Given the description of an element on the screen output the (x, y) to click on. 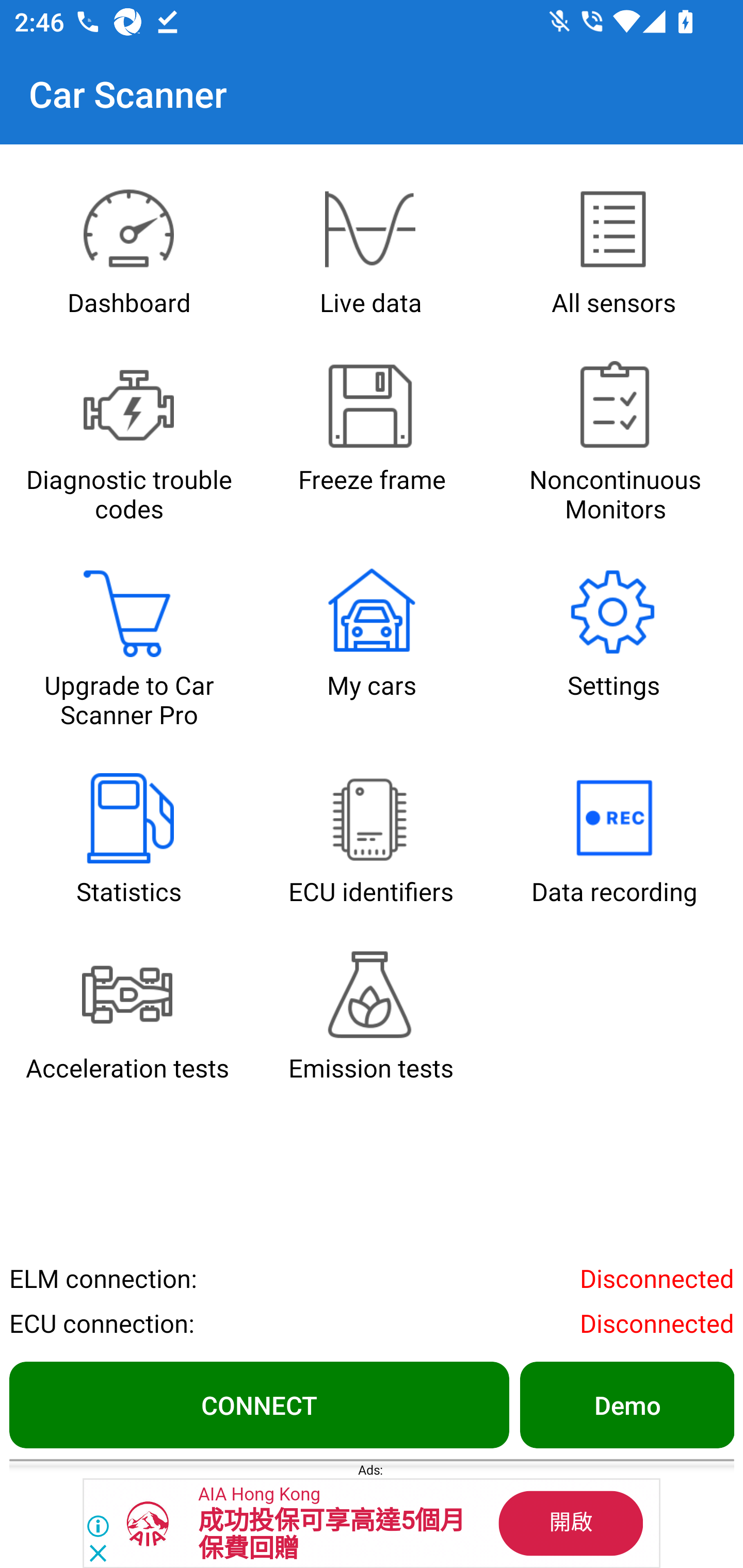
CONNECT (258, 1404)
Demo (627, 1404)
